Given the description of an element on the screen output the (x, y) to click on. 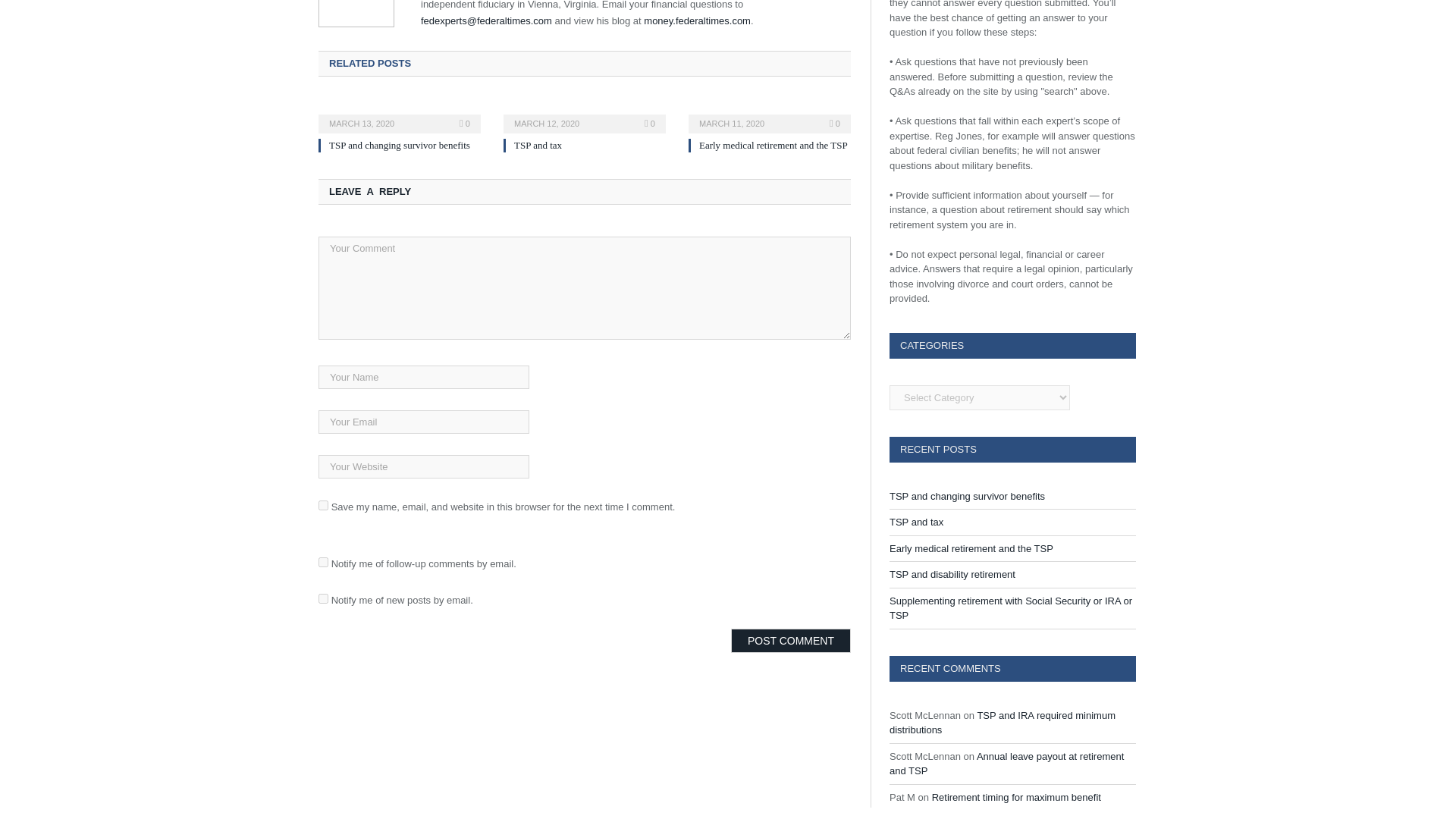
subscribe (323, 562)
Post Comment (790, 640)
subscribe (323, 598)
yes (323, 505)
